Given the description of an element on the screen output the (x, y) to click on. 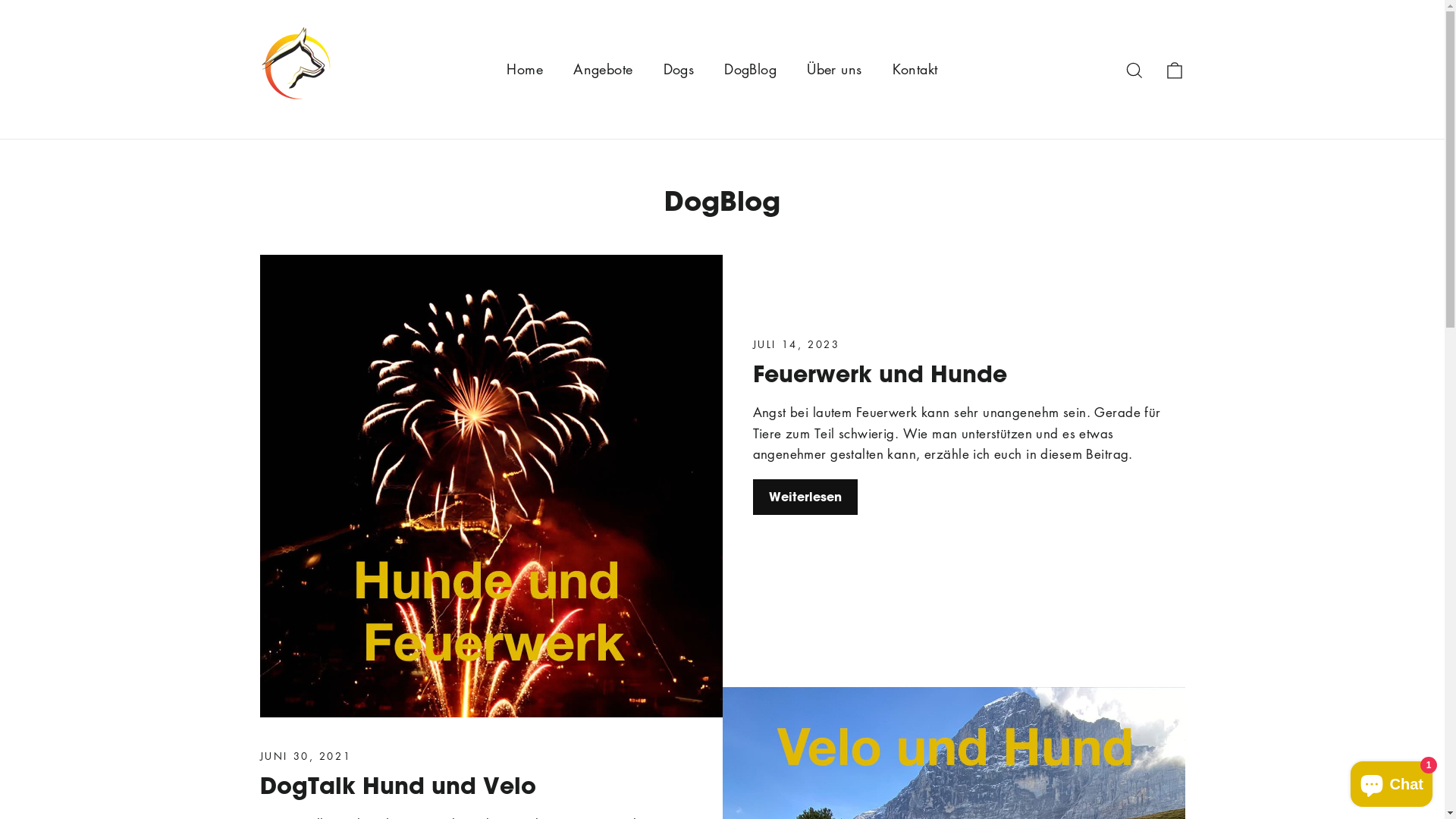
DogTalk Hund und Velo Element type: text (397, 784)
Kontakt Element type: text (915, 68)
Suche Element type: text (1134, 68)
Feuerwerk und Hunde Element type: text (879, 372)
Onlineshop-Chat von Shopify Element type: hover (1391, 780)
Dogs Element type: text (678, 68)
Einkaufswagen Element type: text (1173, 68)
Weiterlesen Element type: text (804, 496)
Angebote Element type: text (602, 68)
Home Element type: text (524, 68)
DogBlog Element type: text (750, 68)
